Given the description of an element on the screen output the (x, y) to click on. 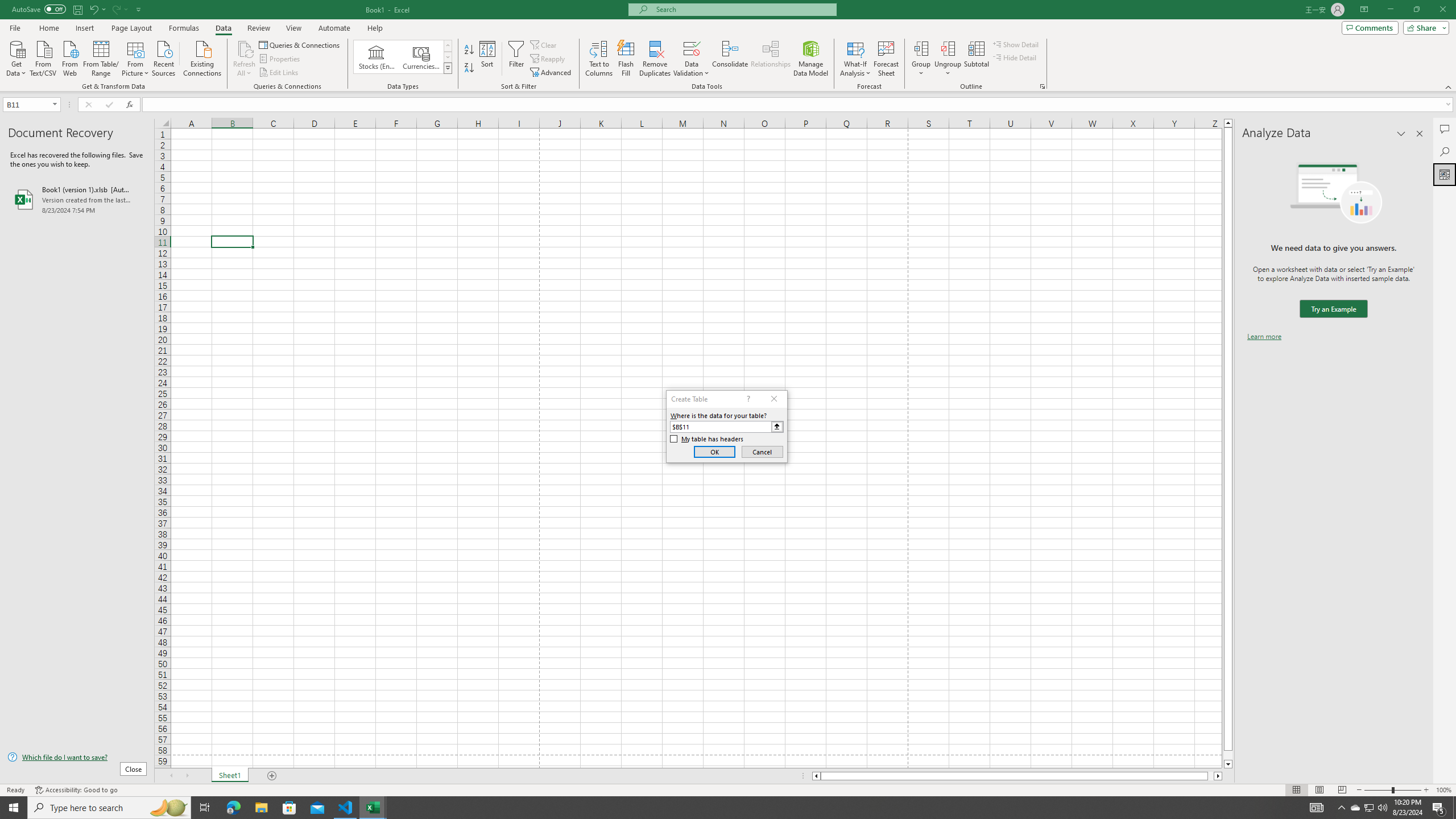
Consolidate... (729, 58)
